Given the description of an element on the screen output the (x, y) to click on. 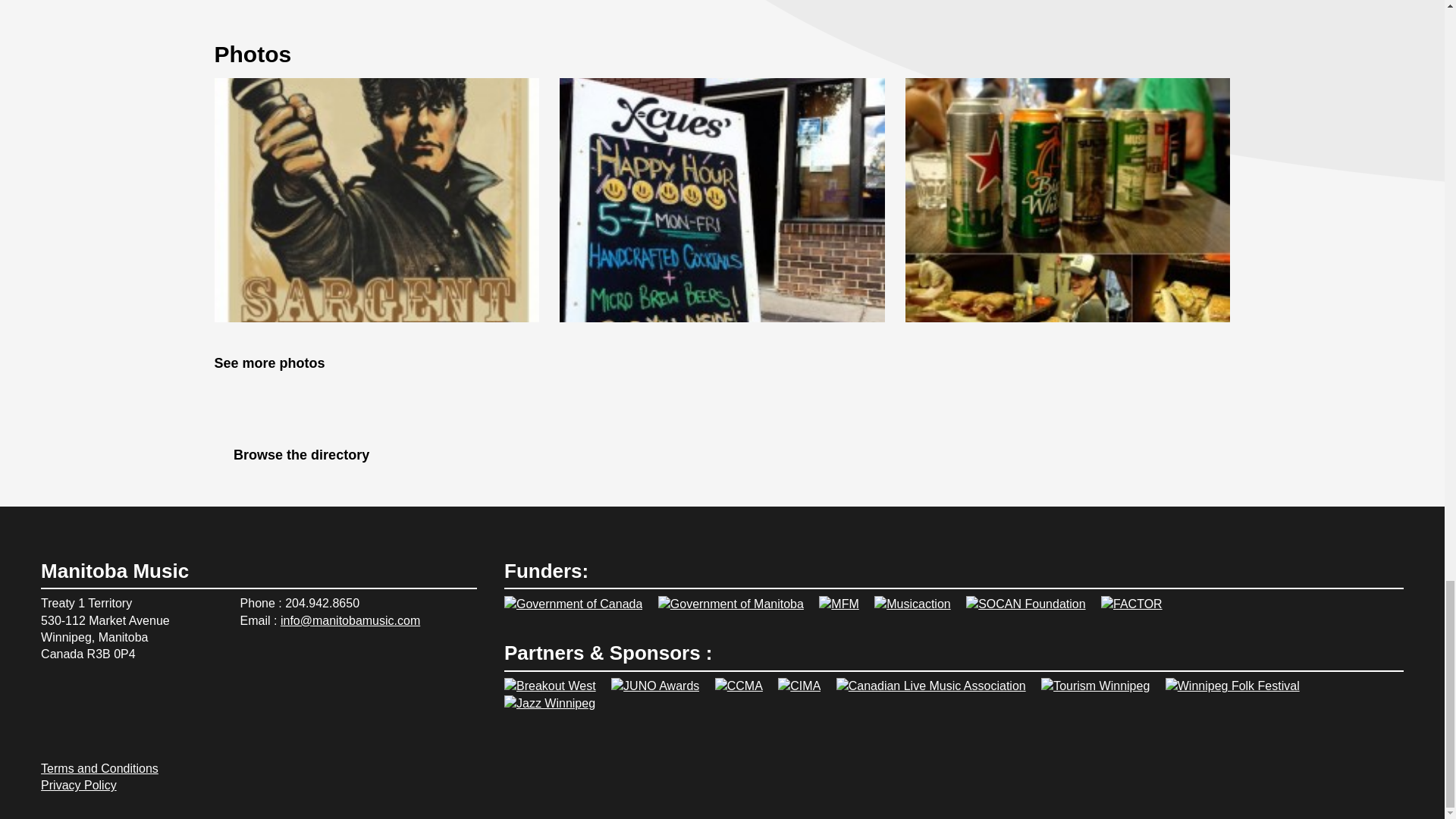
Follow us on Spotify (52, 696)
Contact Us via email (125, 730)
Follow us on Twitter (125, 696)
Follow our RSS feed (89, 730)
Subscribe on YouTube (161, 696)
Like us on Facebook (89, 696)
Follow us on Instagram (52, 730)
